Given the description of an element on the screen output the (x, y) to click on. 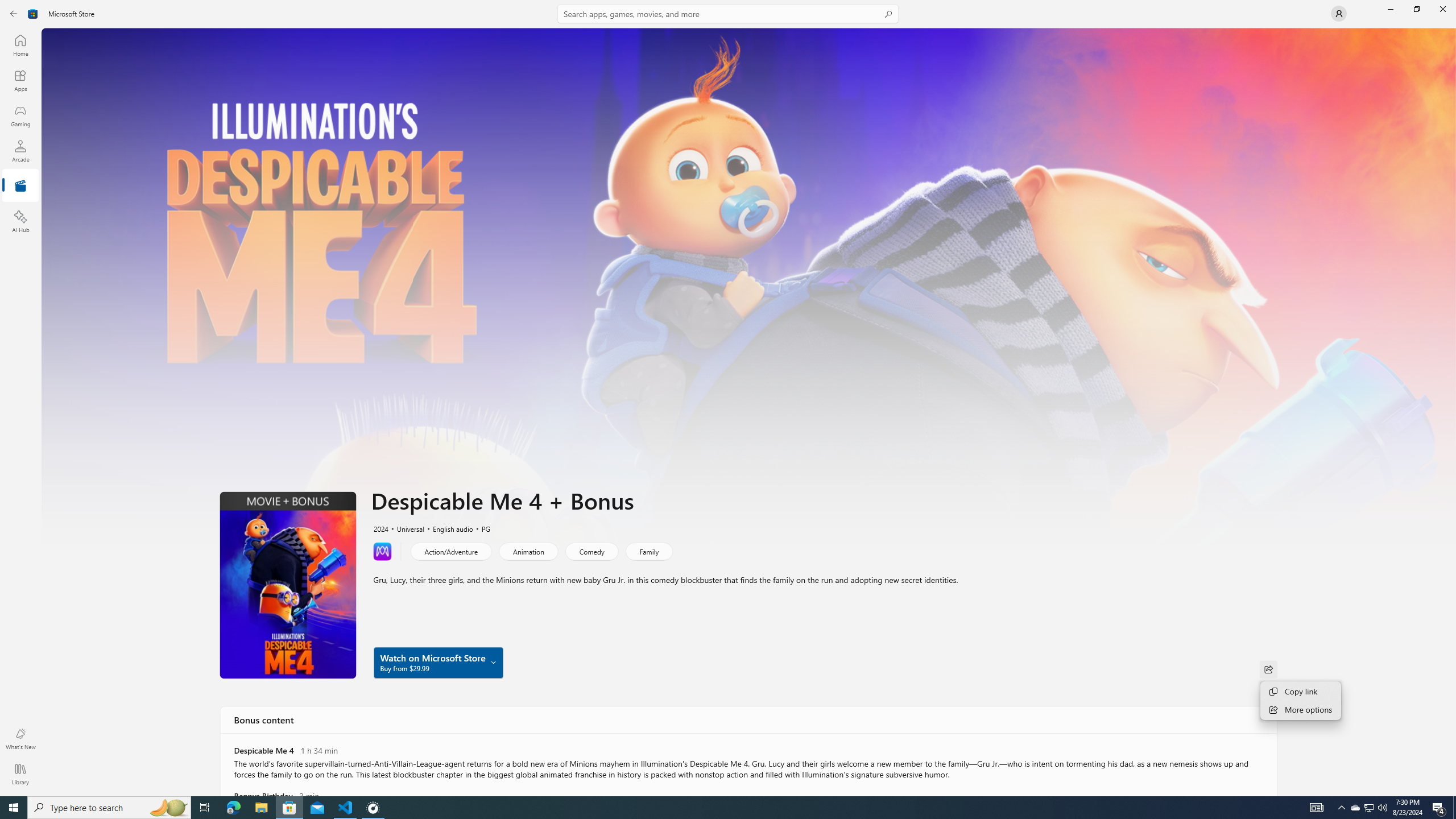
AI Hub (20, 221)
Gaming (20, 115)
Family (648, 551)
Animation (528, 551)
2024 (379, 528)
Search (727, 13)
Class: Image (32, 13)
Action/Adventure (451, 551)
Learn more about Movies Anywhere (381, 551)
Close Microsoft Store (1442, 9)
English audio (447, 528)
What's New (20, 738)
Apps (20, 80)
